Given the description of an element on the screen output the (x, y) to click on. 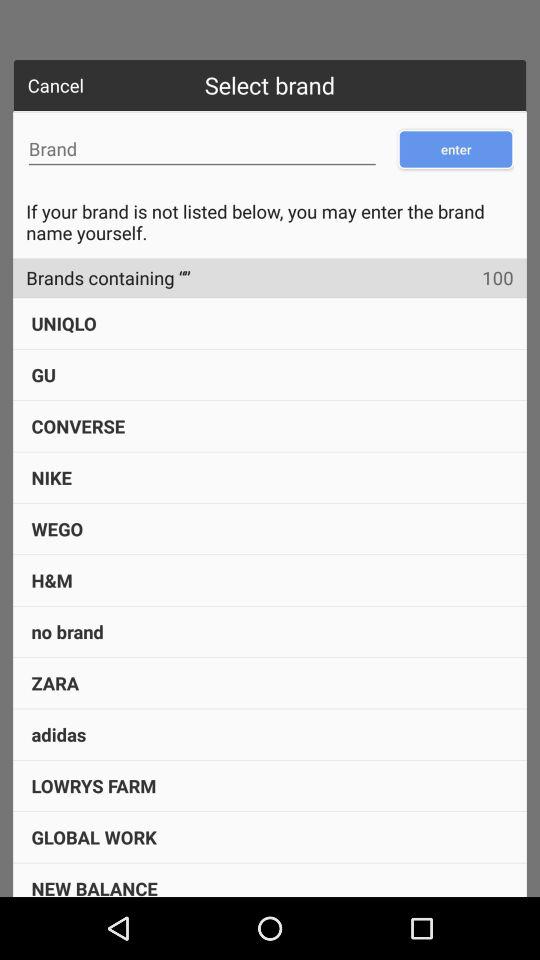
jump to the adidas (58, 734)
